Given the description of an element on the screen output the (x, y) to click on. 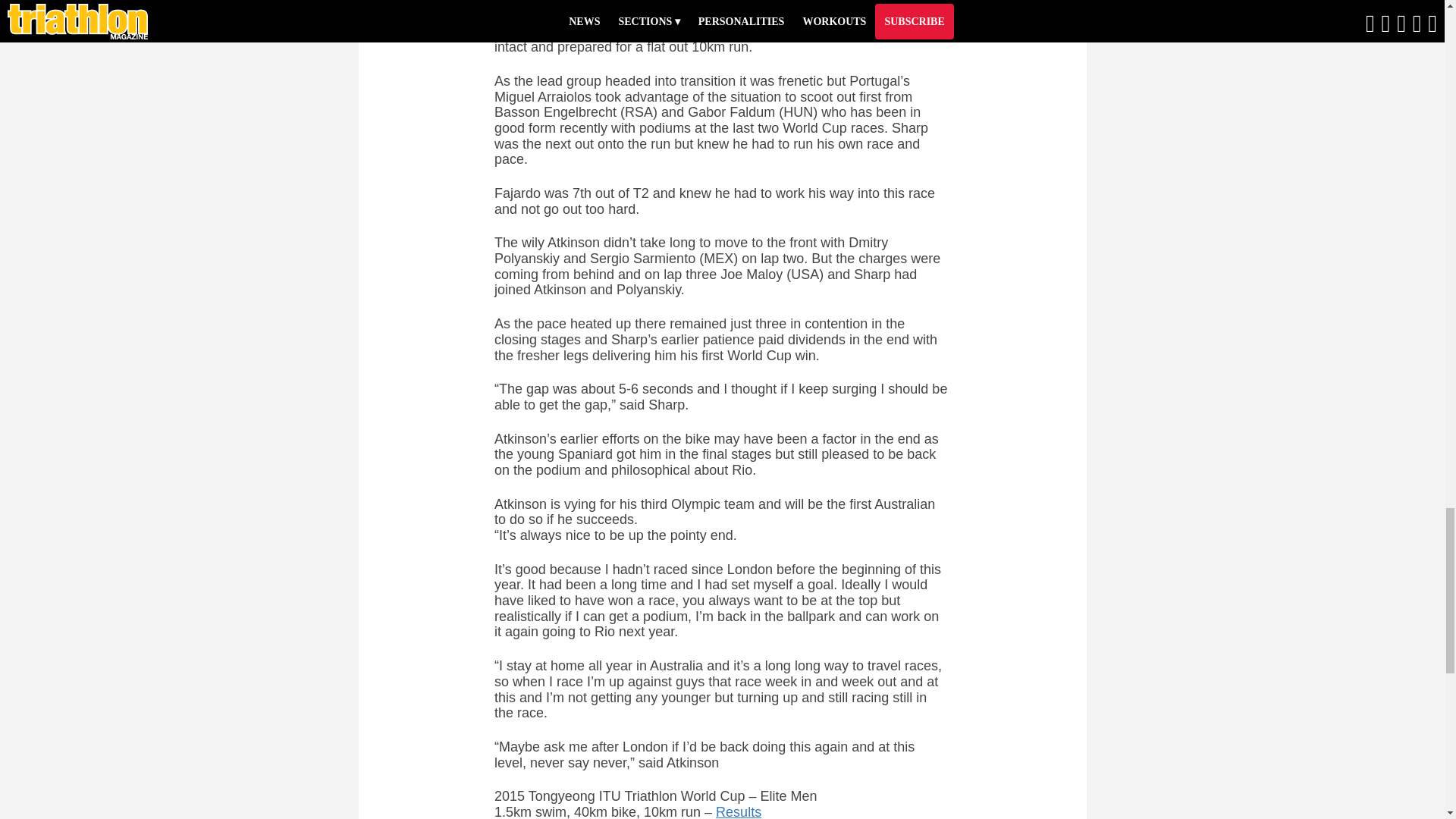
Results (738, 811)
